Given the description of an element on the screen output the (x, y) to click on. 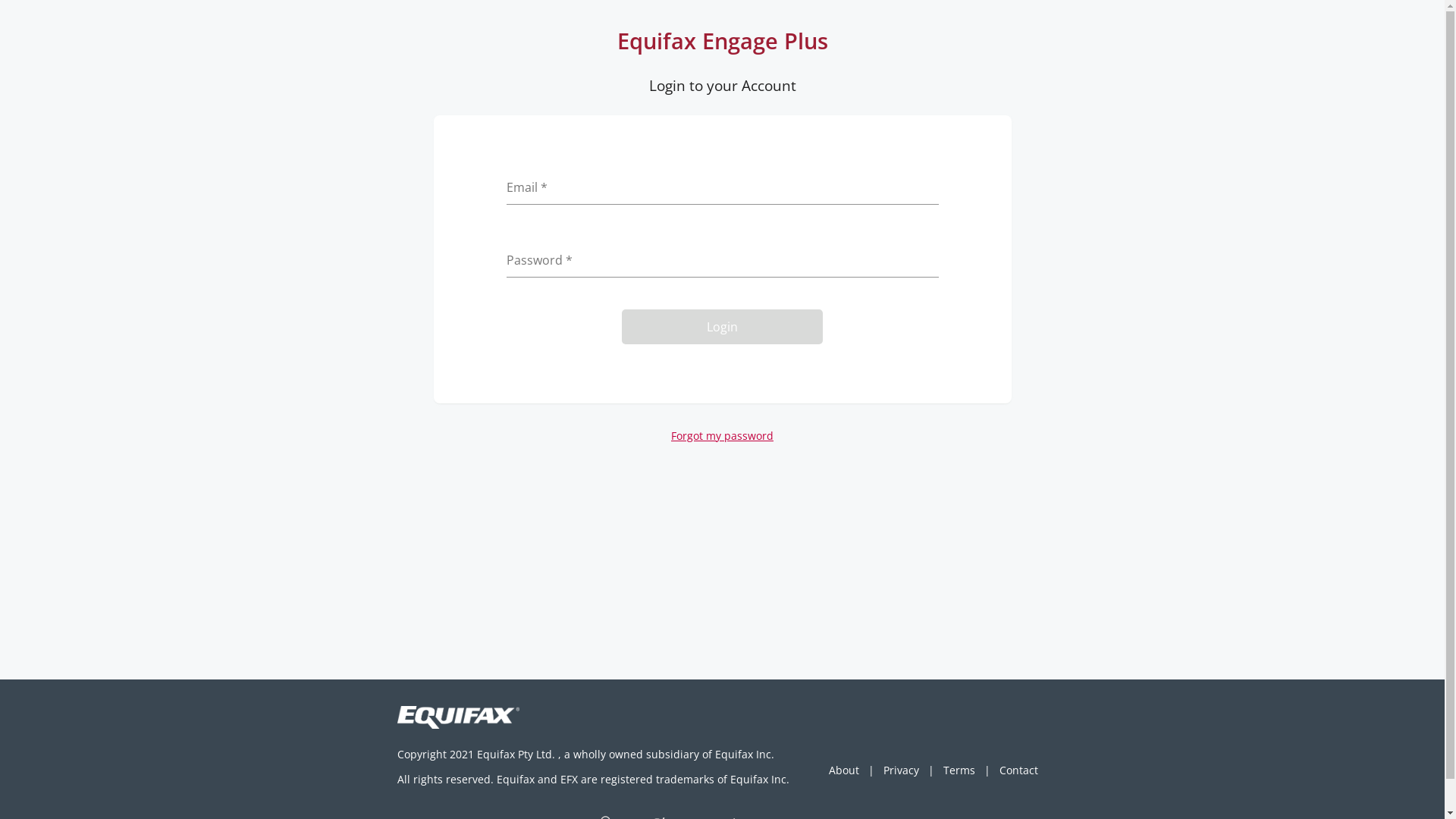
Terms Element type: text (959, 769)
Contact Element type: text (1018, 769)
About Element type: text (843, 769)
Privacy Element type: text (901, 769)
Login Element type: text (721, 326)
Forgot my password Element type: text (722, 435)
